Given the description of an element on the screen output the (x, y) to click on. 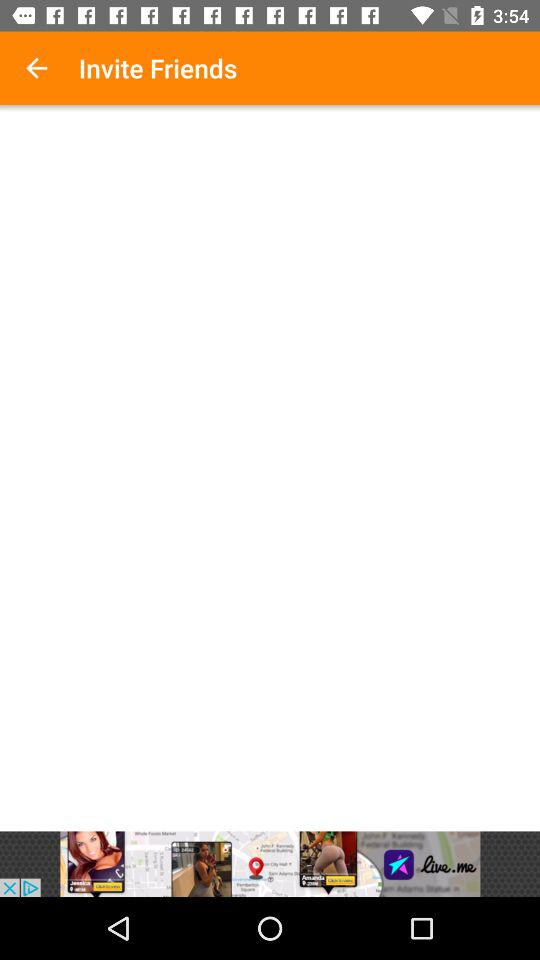
interact with advertisement (270, 864)
